Given the description of an element on the screen output the (x, y) to click on. 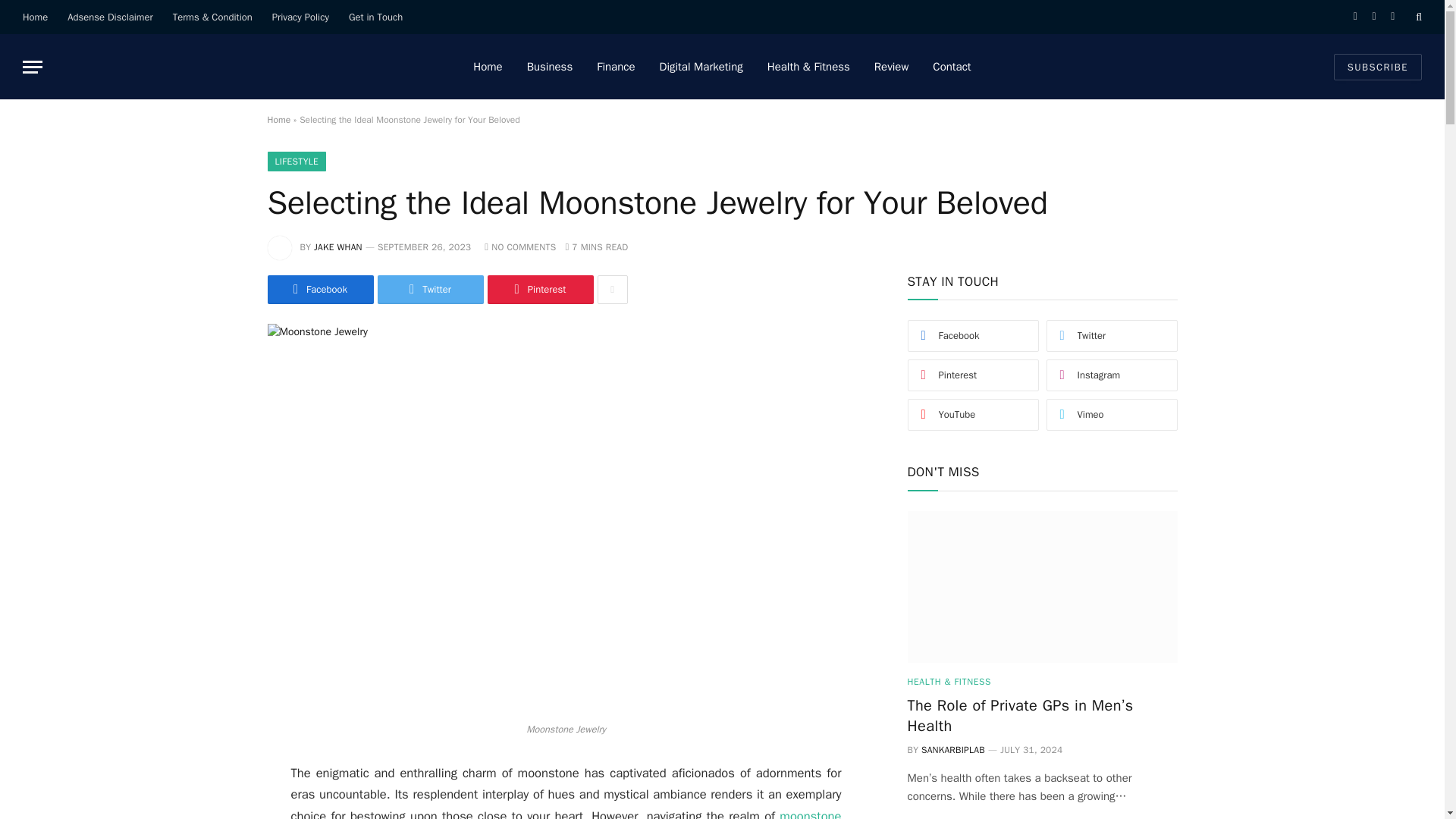
Share on Facebook (319, 289)
HansTrek (168, 66)
Home (35, 17)
Share on Pinterest (539, 289)
Contact (951, 66)
Finance (615, 66)
Privacy Policy (300, 17)
NO COMMENTS (520, 246)
Business (550, 66)
Posts by Jake Whan (338, 246)
